Given the description of an element on the screen output the (x, y) to click on. 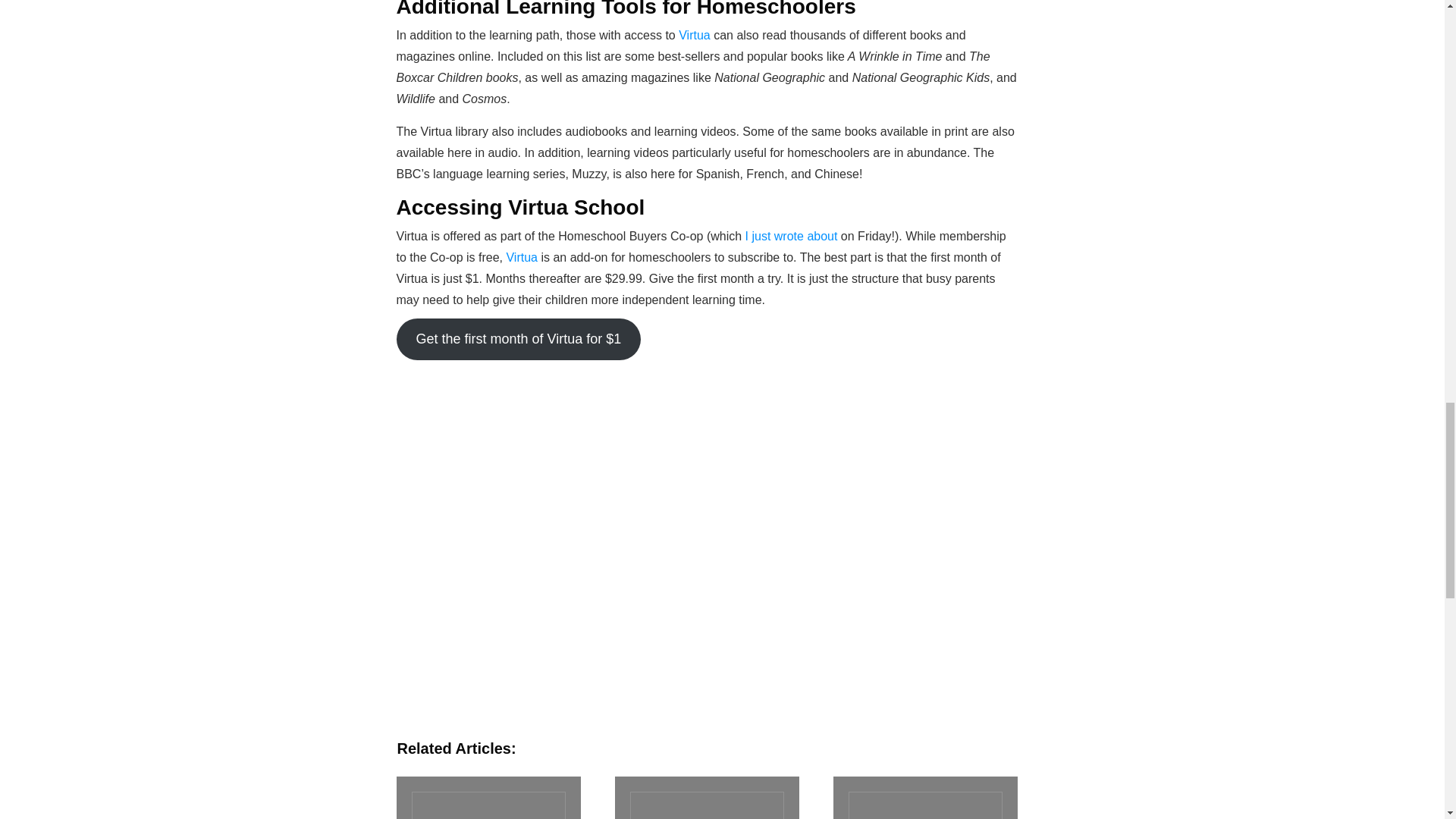
I just wrote about (791, 236)
Virtua (522, 256)
Virtua (695, 34)
